Given the description of an element on the screen output the (x, y) to click on. 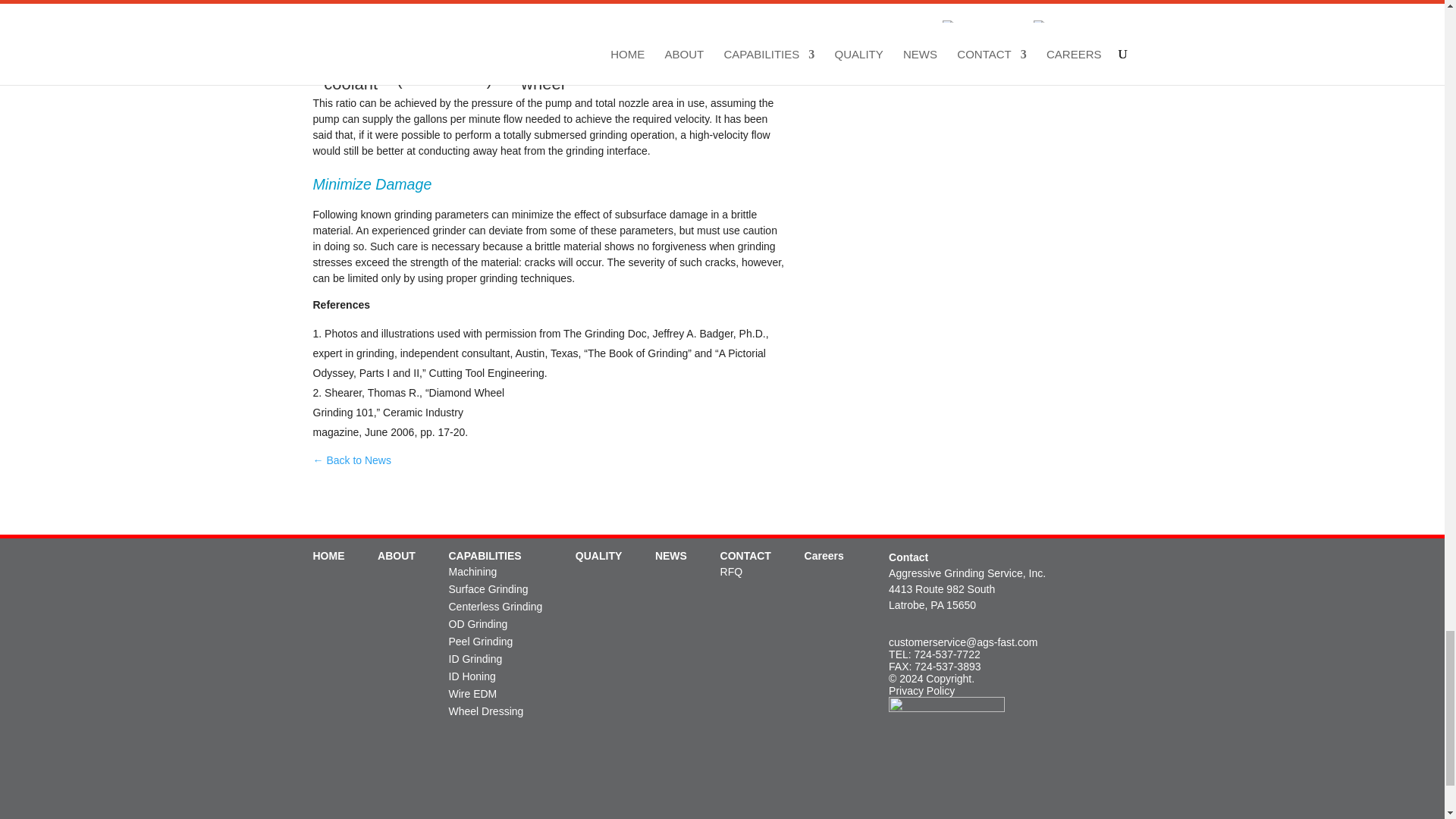
Wheel Dressing (486, 711)
Peel Grinding (480, 641)
OD Grinding (478, 623)
ABOUT (395, 555)
Machining (472, 571)
Wire EDM (472, 693)
Centerless Grinding (495, 606)
CAPABILITIES (484, 555)
QUALITY (598, 555)
ID Grinding (475, 658)
HOME (328, 555)
ID Honing (472, 676)
Surface Grinding (488, 589)
